Given the description of an element on the screen output the (x, y) to click on. 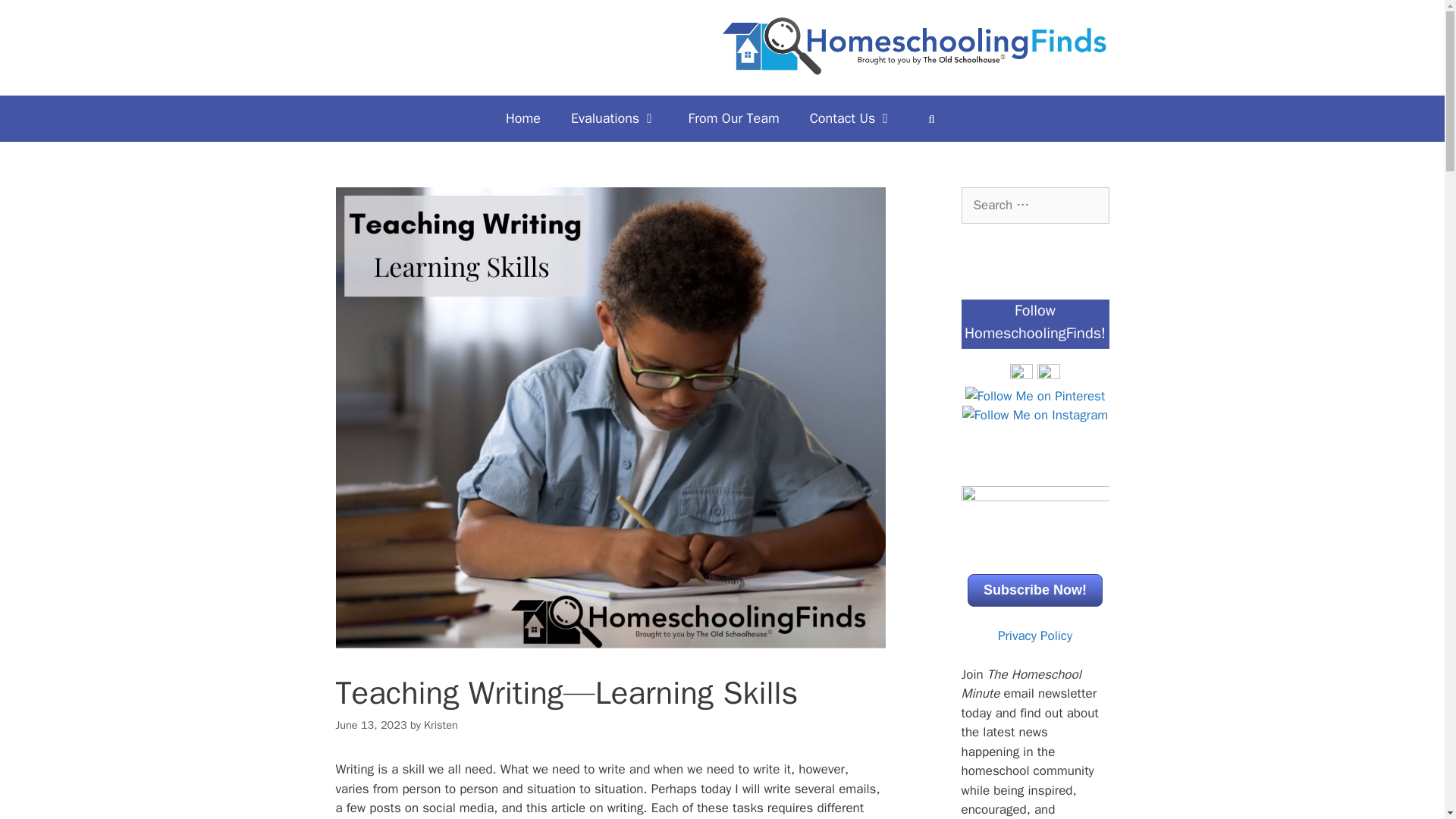
Evaluations (614, 117)
Home (523, 117)
Kristen (440, 725)
Search for: (1034, 205)
From Our Team (733, 117)
View all posts by Kristen (440, 725)
Contact Us (851, 117)
